Given the description of an element on the screen output the (x, y) to click on. 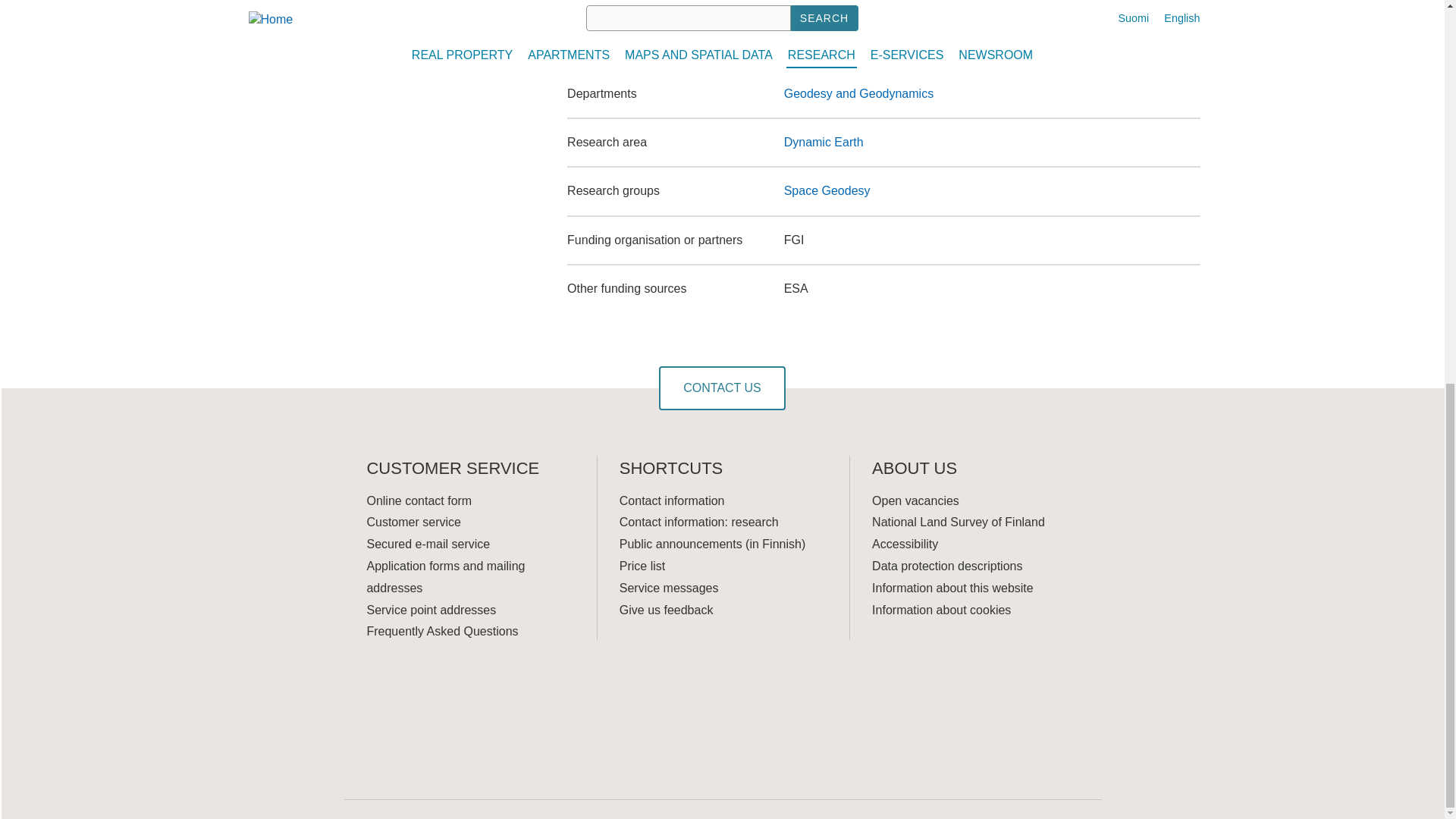
Visit us on X (413, 696)
Visit us on LinkedIn (448, 696)
Visit us on Instagram (483, 696)
Contact us with our online form (722, 388)
Visit us on Facebook (378, 696)
